Given the description of an element on the screen output the (x, y) to click on. 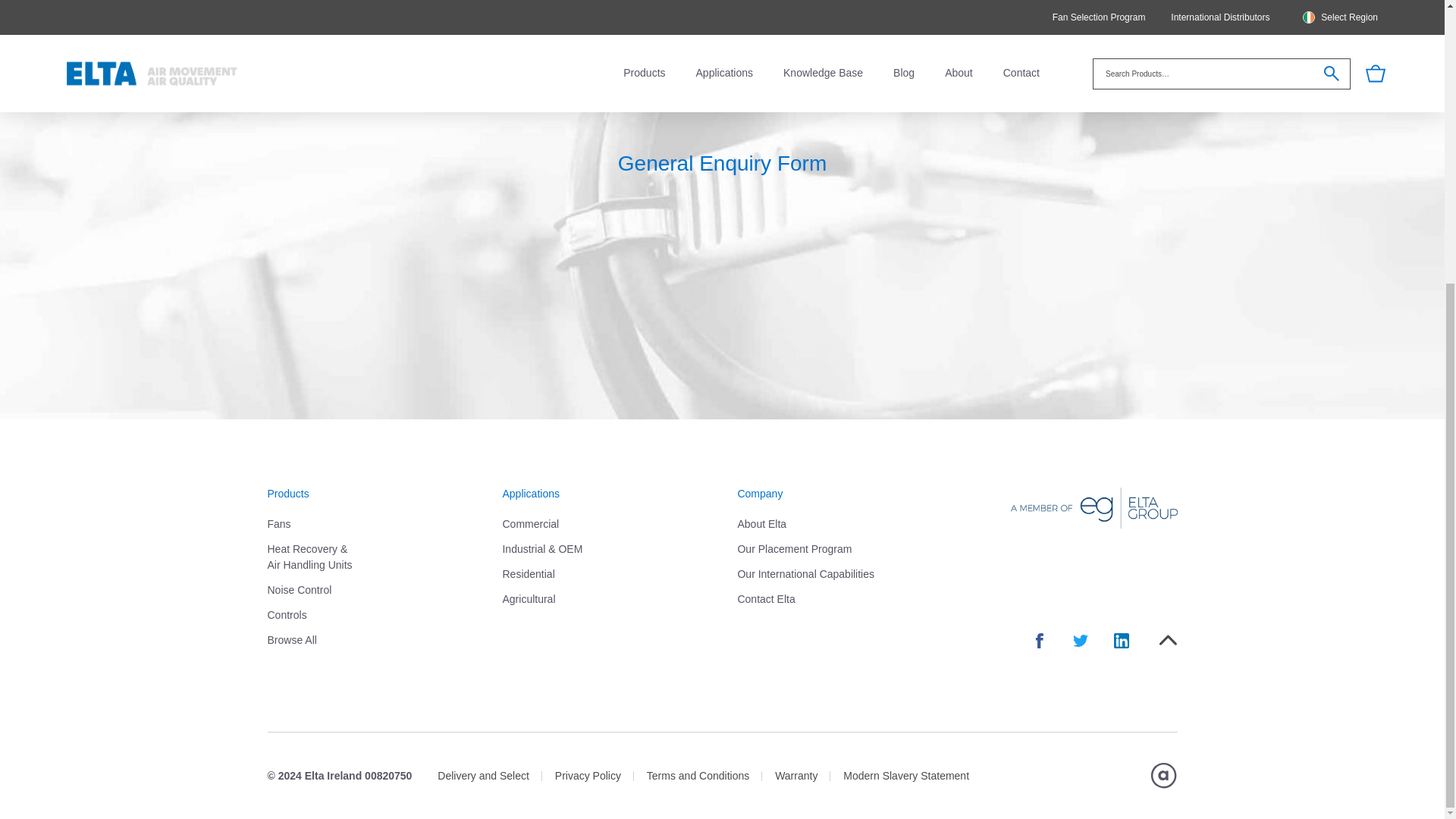
website by adaptable (1163, 775)
adaptable (1163, 775)
Up Icon (1167, 639)
